Given the description of an element on the screen output the (x, y) to click on. 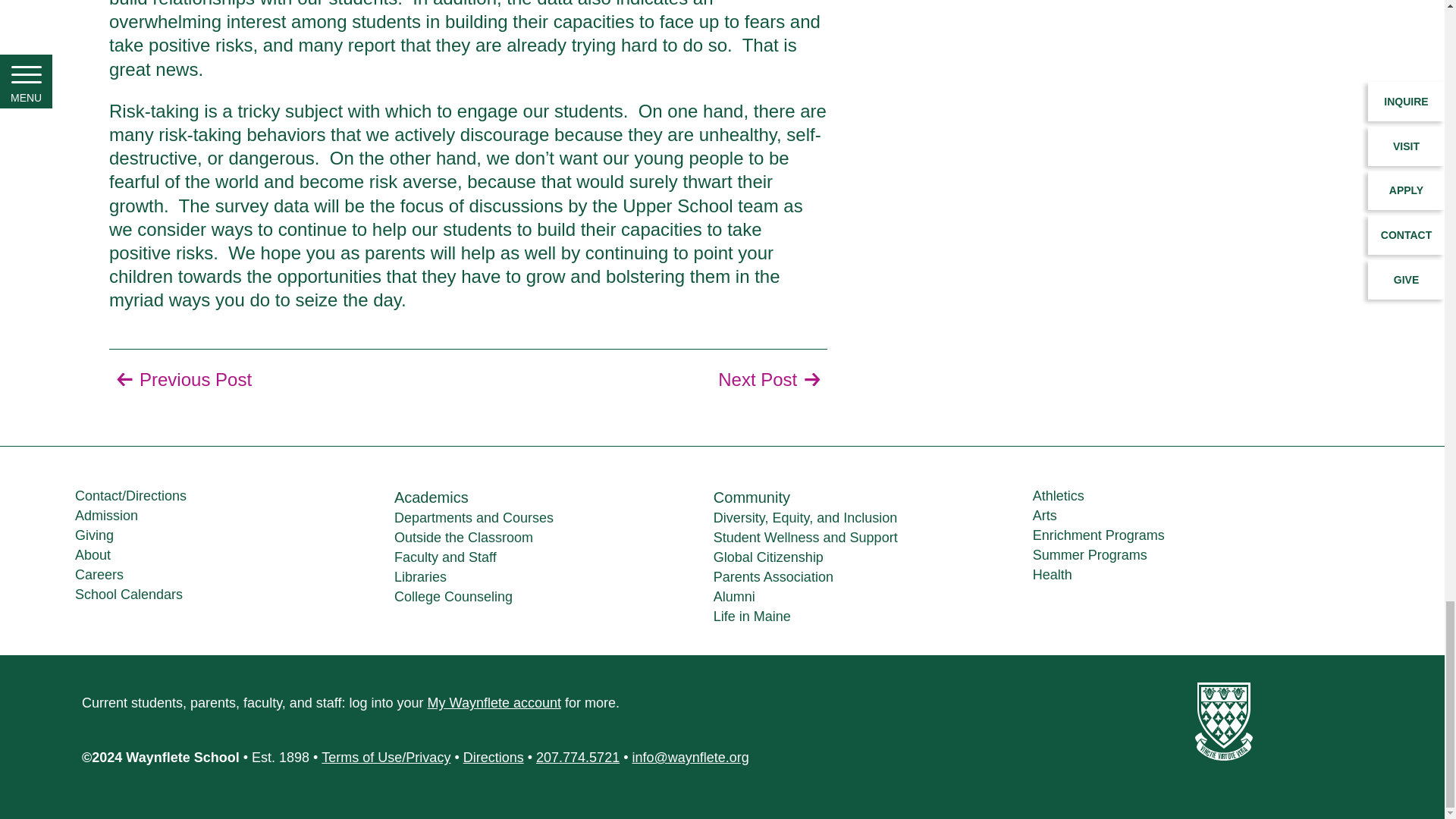
Previous Post (180, 380)
Admission (106, 515)
Next Post (772, 380)
